Given the description of an element on the screen output the (x, y) to click on. 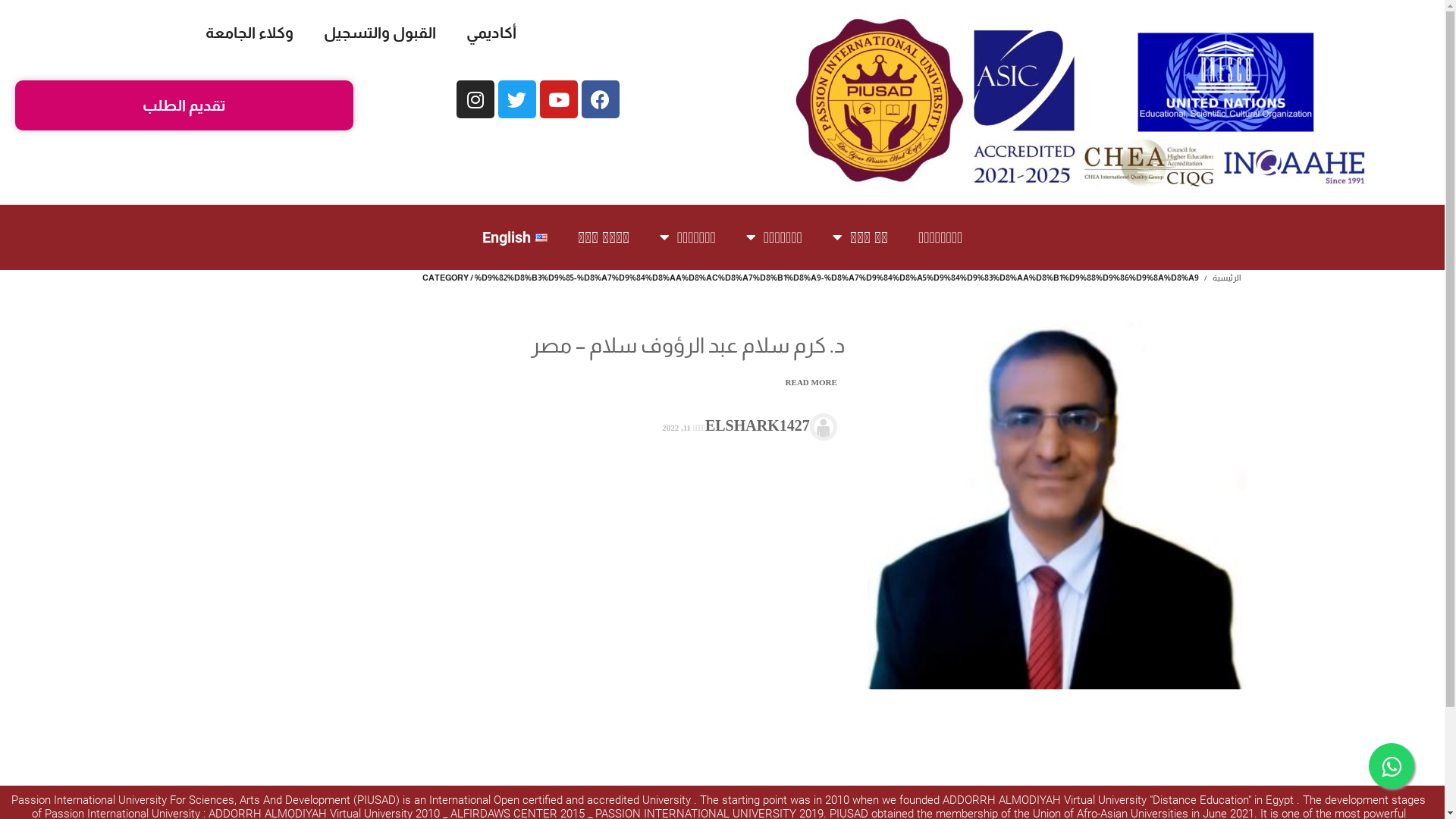
READ MORE Element type: text (809, 381)
English Element type: text (514, 237)
